Given the description of an element on the screen output the (x, y) to click on. 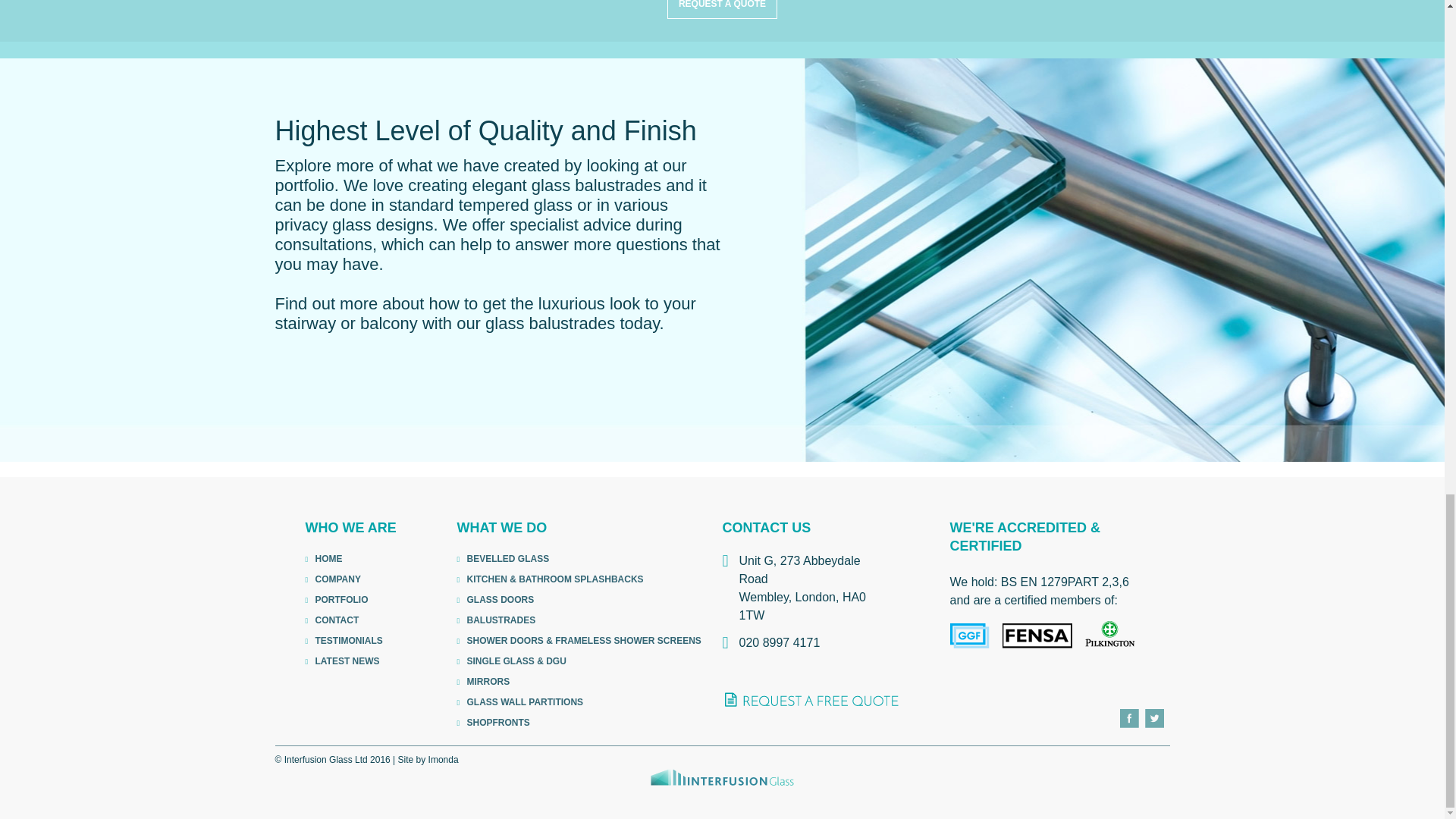
GLASS DOORS (581, 599)
HOME (353, 559)
MIRRORS (581, 681)
Bevelled Glass (581, 559)
LATEST NEWS (353, 661)
Balustrades (581, 620)
REQUEST A QUOTE (721, 9)
PORTFOLIO (353, 599)
Glass Doors (581, 599)
Shopfronts (581, 722)
